Given the description of an element on the screen output the (x, y) to click on. 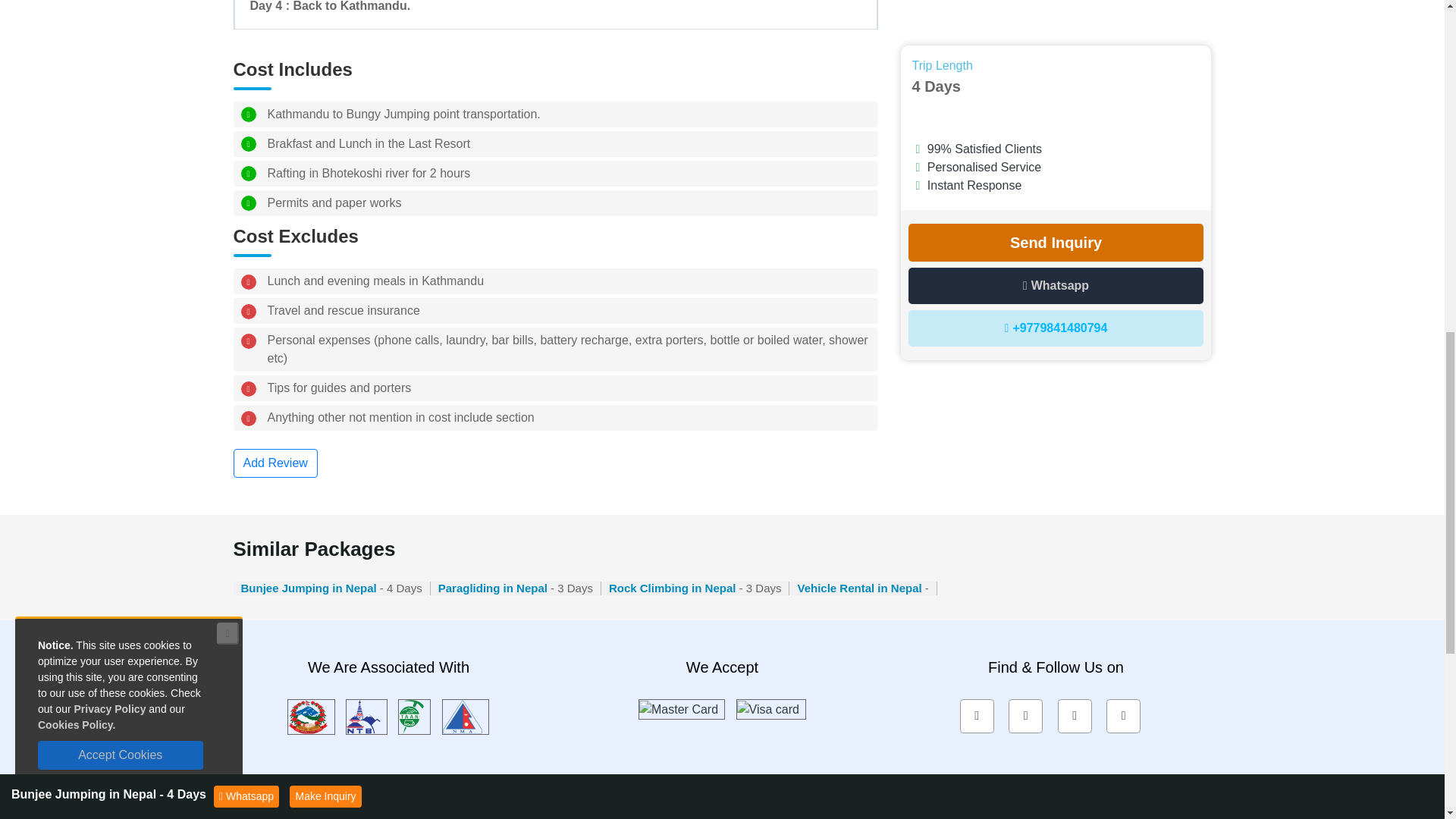
Nepal Mountaineering Association (465, 716)
Visa card (770, 707)
TAAN (413, 716)
Master Card (681, 707)
Tourism Ministry of Nepal (310, 716)
Nepal Tourism Board (365, 716)
